Given the description of an element on the screen output the (x, y) to click on. 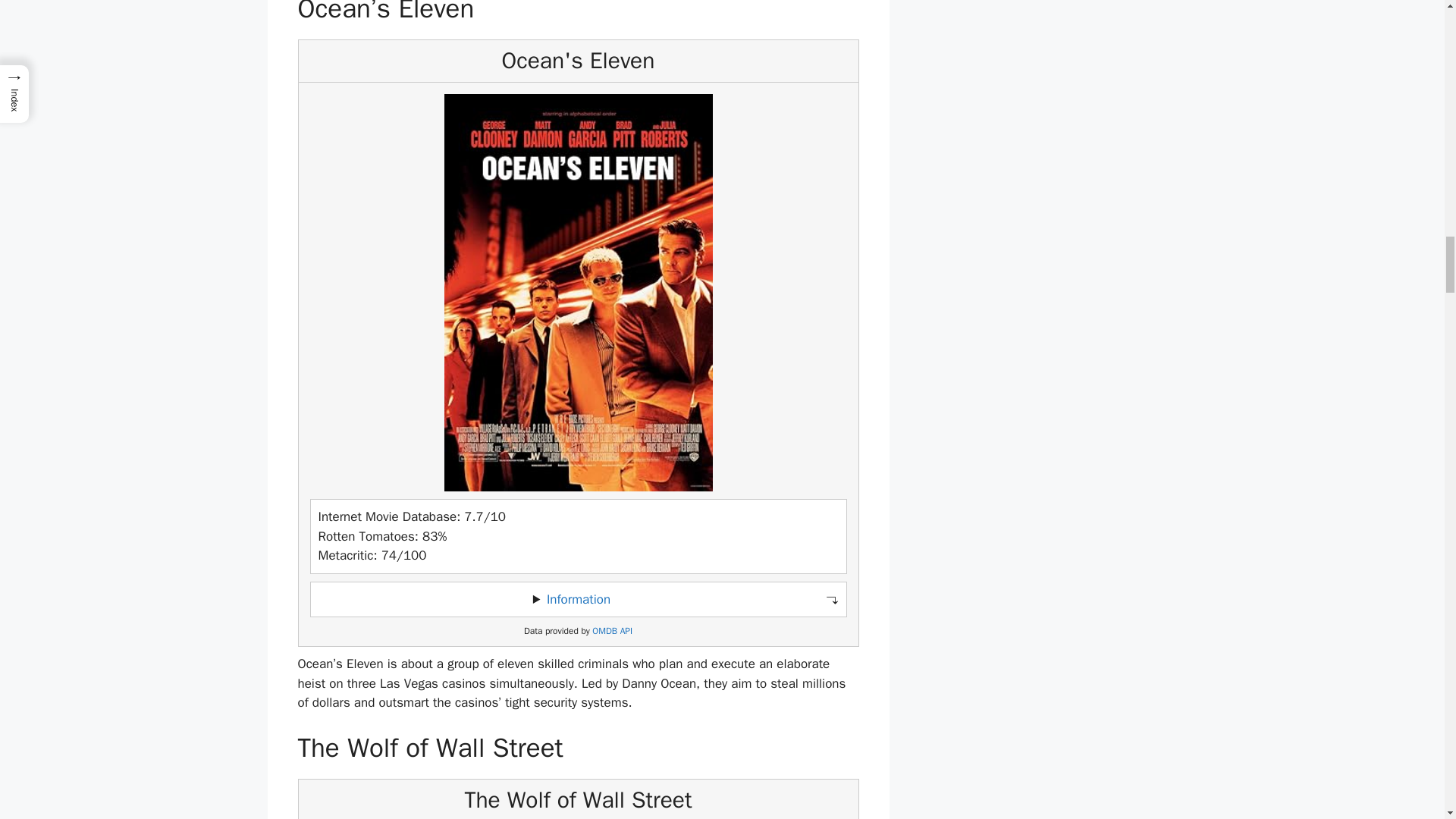
Open Movie Database API (611, 631)
OMDB API (611, 631)
Toggle information (578, 599)
Information (578, 599)
